Given the description of an element on the screen output the (x, y) to click on. 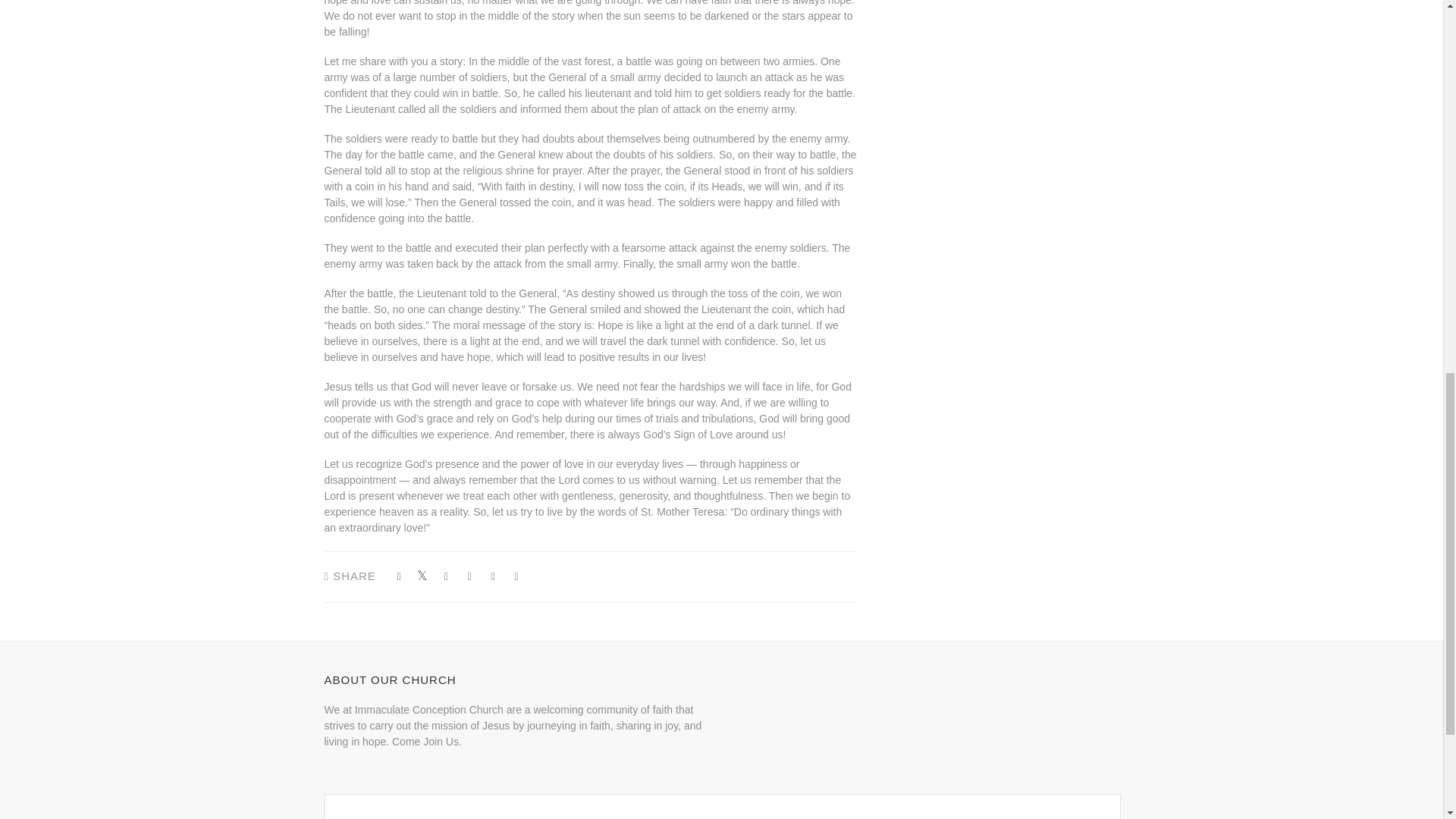
Tweet (422, 576)
Share on Facebook (445, 576)
Next (825, 137)
Pin it (492, 576)
Share on Facebook (399, 576)
Post to Tumblr (469, 576)
Email (515, 576)
